Given the description of an element on the screen output the (x, y) to click on. 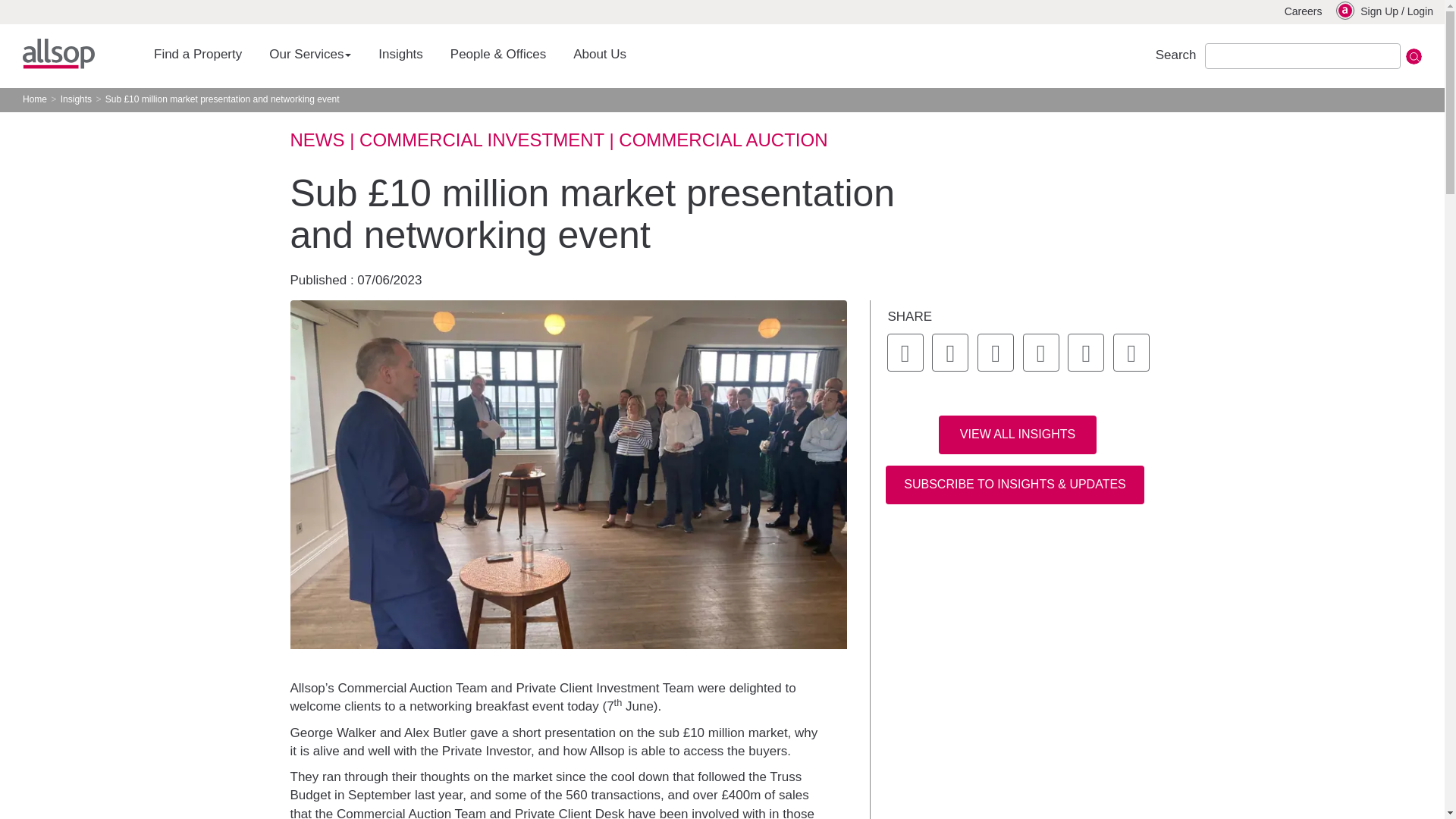
Sign Up (1378, 11)
Our Services (310, 54)
Careers (1302, 12)
Allsop (58, 53)
Login (1419, 11)
Find a Property (197, 54)
